Given the description of an element on the screen output the (x, y) to click on. 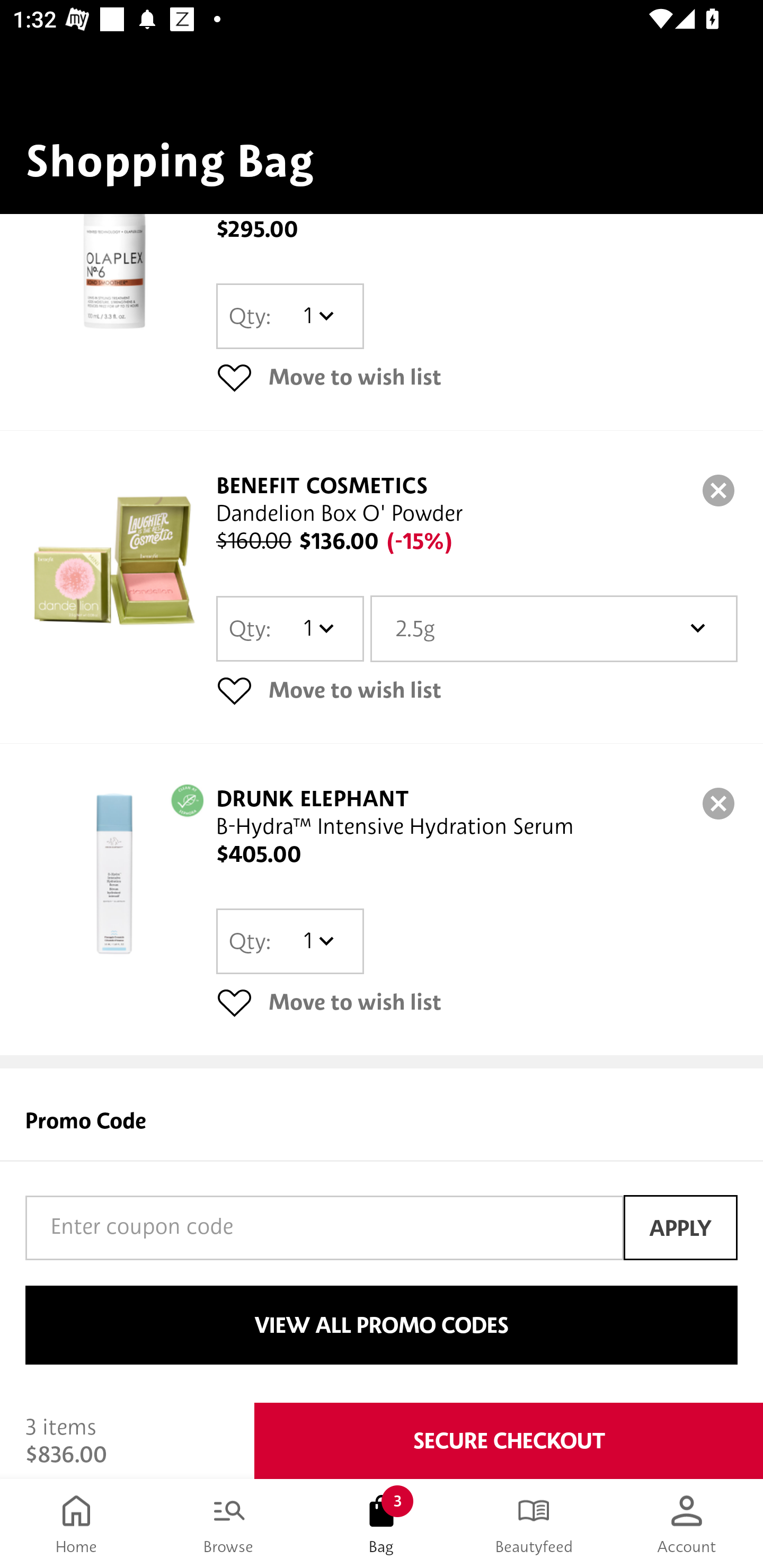
1 (317, 316)
Move to wish list (476, 376)
2.5g (553, 628)
1 (317, 628)
Move to wish list (476, 689)
1 (317, 940)
Move to wish list (476, 1001)
APPLY (680, 1227)
Enter coupon code (324, 1227)
VIEW ALL PROMO CODES (381, 1324)
SECURE CHECKOUT (508, 1440)
Home (76, 1523)
Browse (228, 1523)
Beautyfeed (533, 1523)
Account (686, 1523)
